Given the description of an element on the screen output the (x, y) to click on. 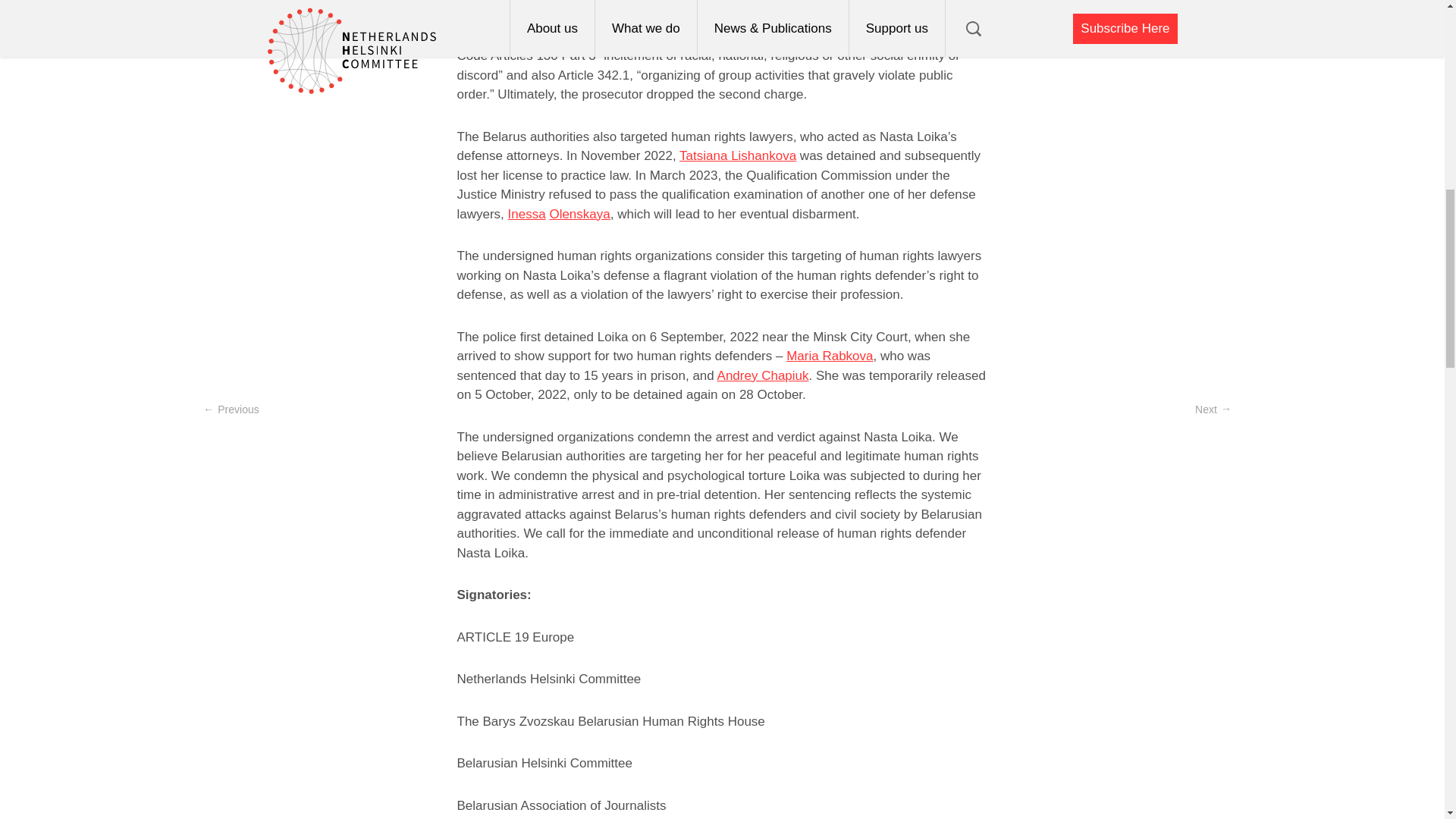
Andrey Chapiuk (763, 375)
Inessa (527, 213)
Tatsiana Lishankova (737, 155)
Maria Rabkova (829, 355)
Olenskaya (579, 213)
